Given the description of an element on the screen output the (x, y) to click on. 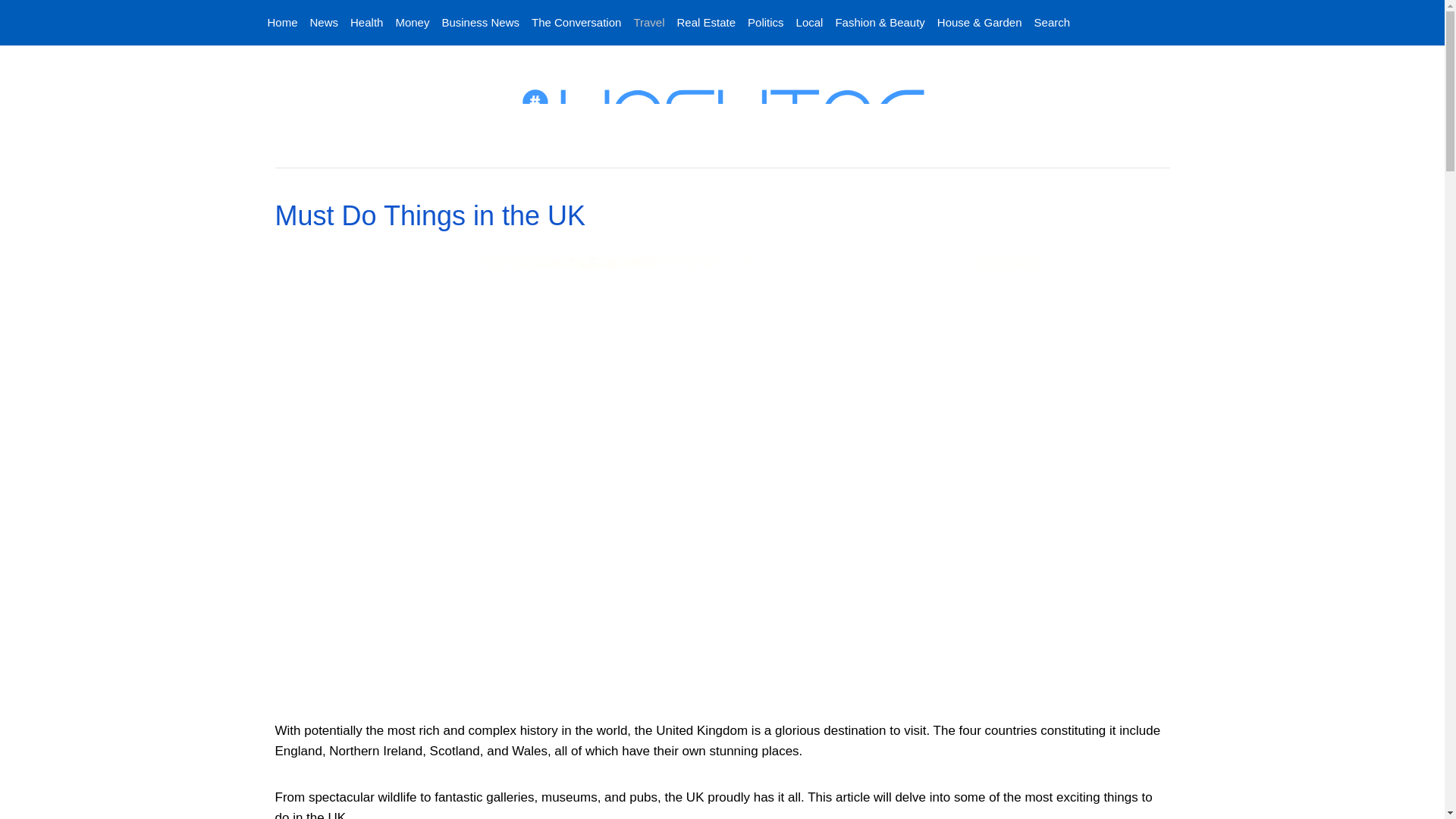
News (324, 22)
Business News (480, 22)
Travel (648, 22)
Real Estate (705, 22)
Health (365, 22)
Search (1048, 22)
Money (411, 22)
Politics (765, 22)
The Conversation (576, 22)
